Given the description of an element on the screen output the (x, y) to click on. 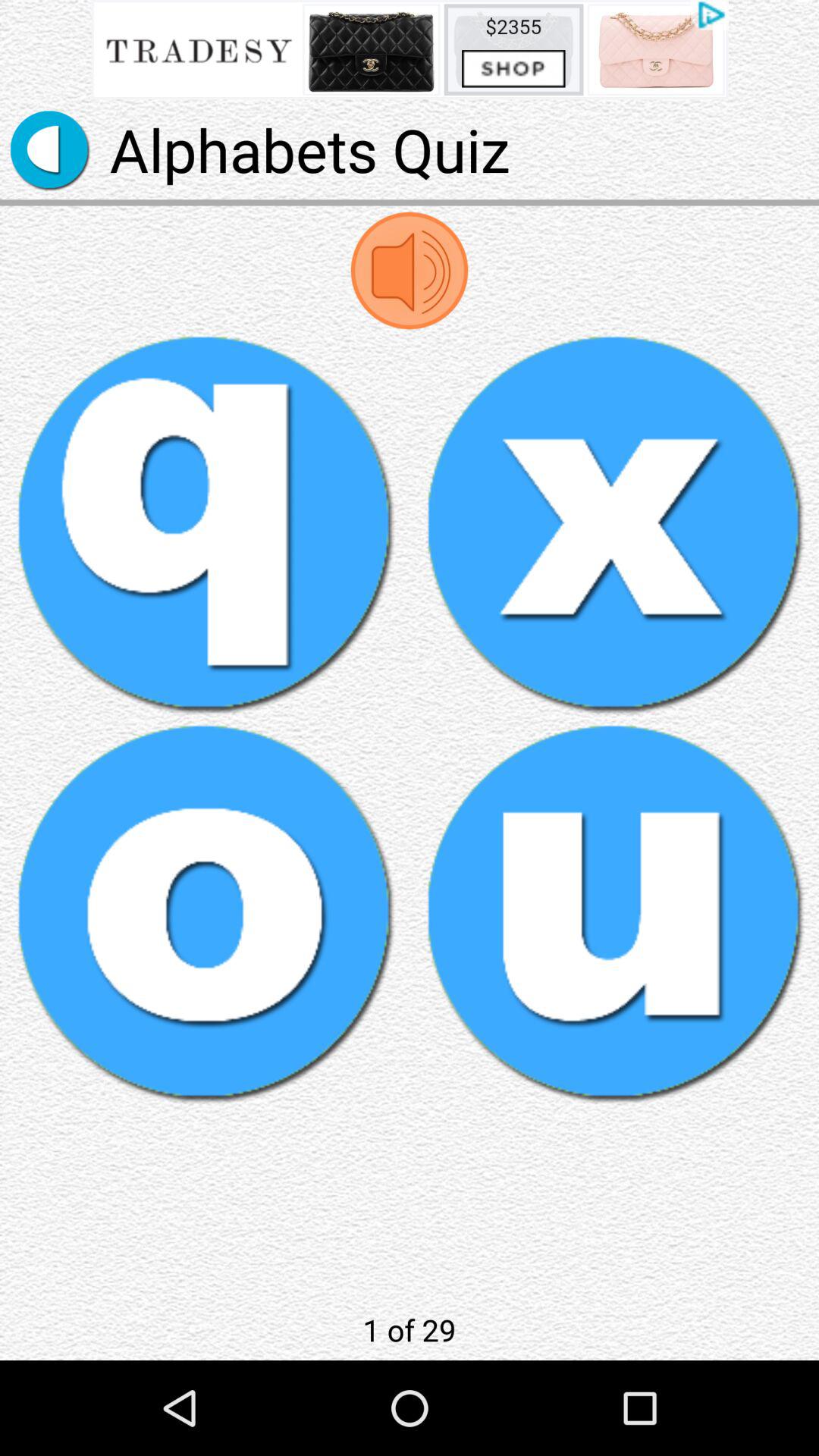
go to alphabets quiz with q (204, 523)
